Given the description of an element on the screen output the (x, y) to click on. 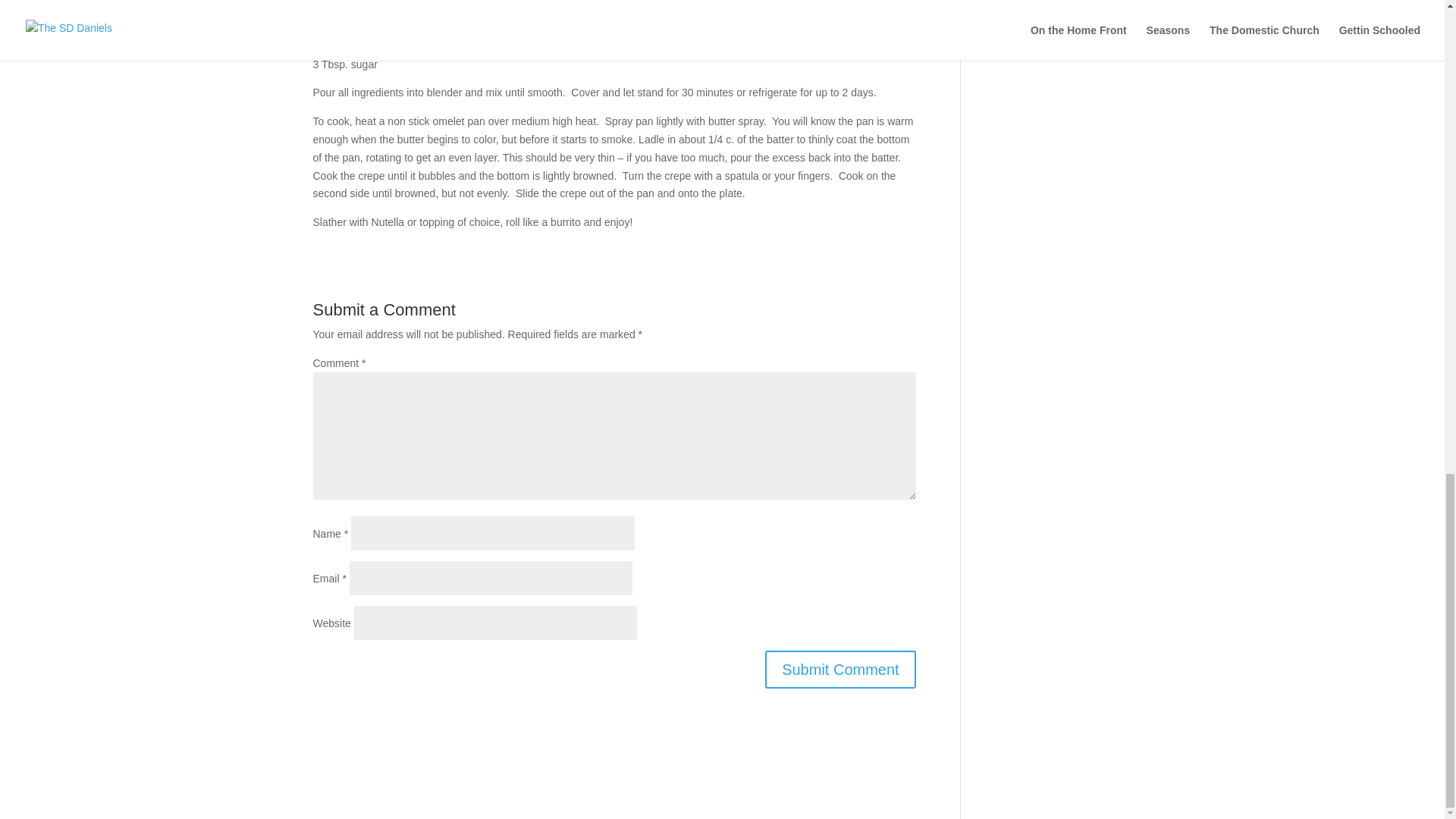
Submit Comment (840, 669)
Submit Comment (840, 669)
